Given the description of an element on the screen output the (x, y) to click on. 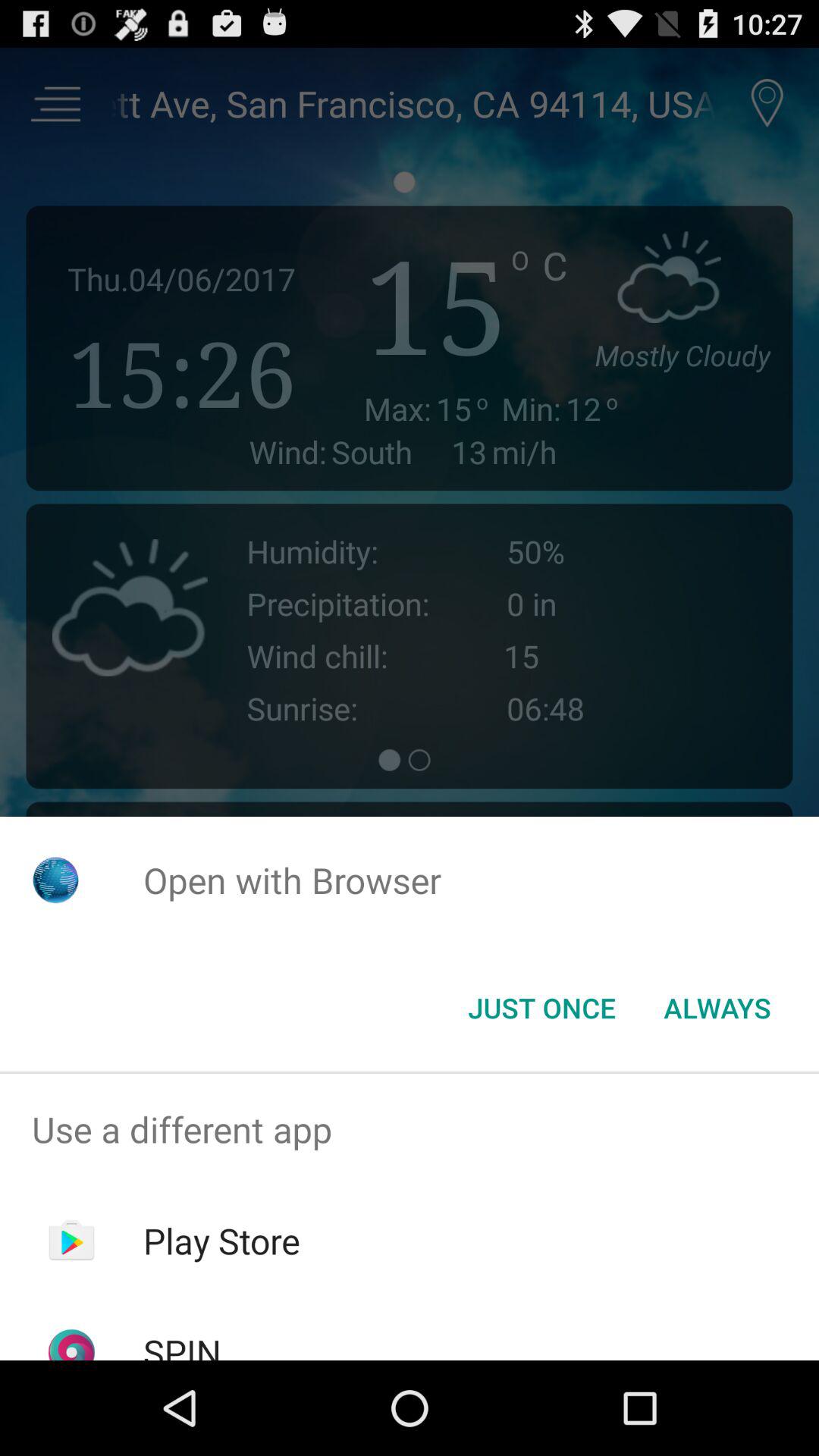
launch the use a different icon (409, 1129)
